Given the description of an element on the screen output the (x, y) to click on. 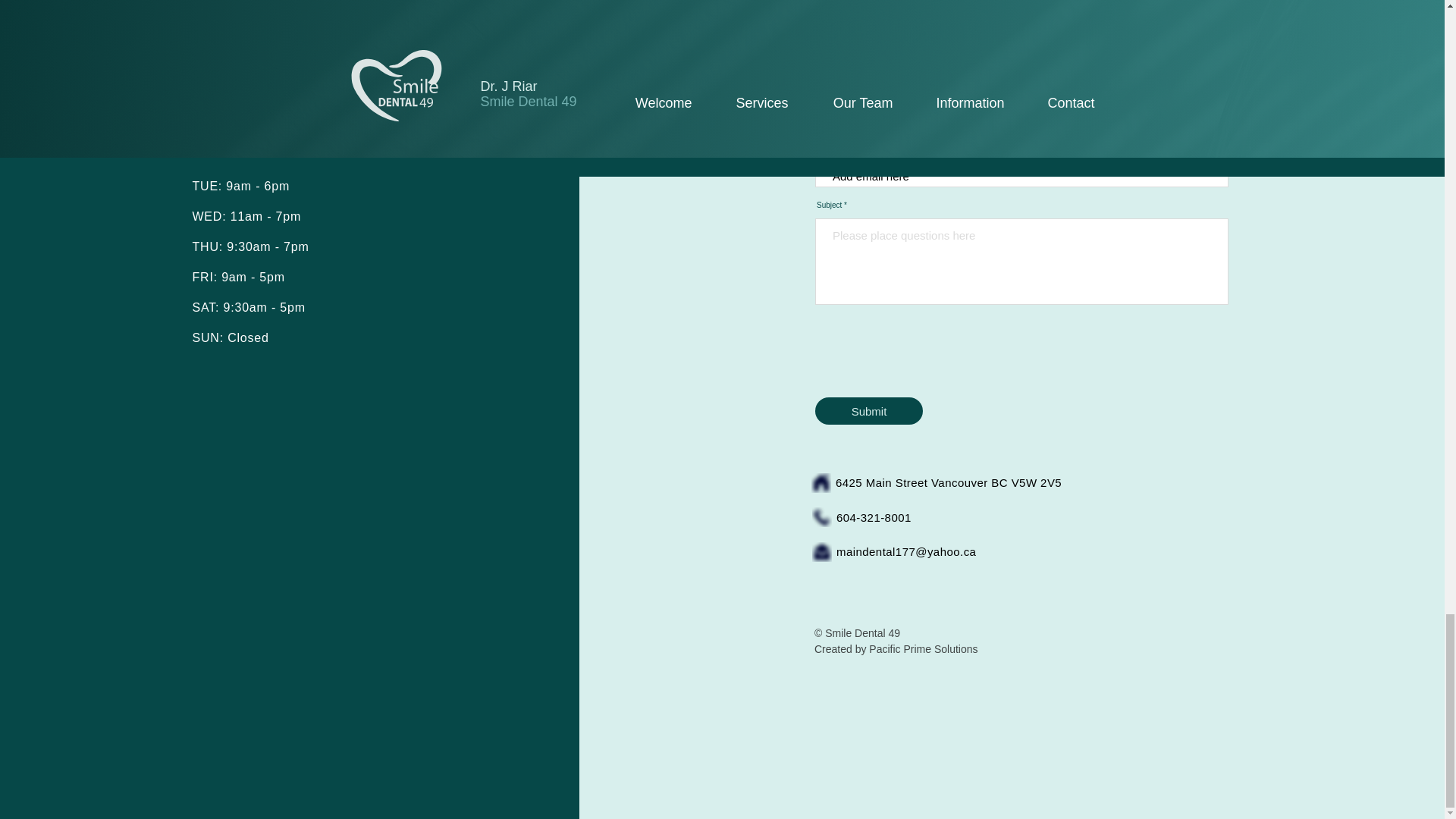
First Name (906, 110)
Submit (869, 411)
Last Name (1124, 110)
